Given the description of an element on the screen output the (x, y) to click on. 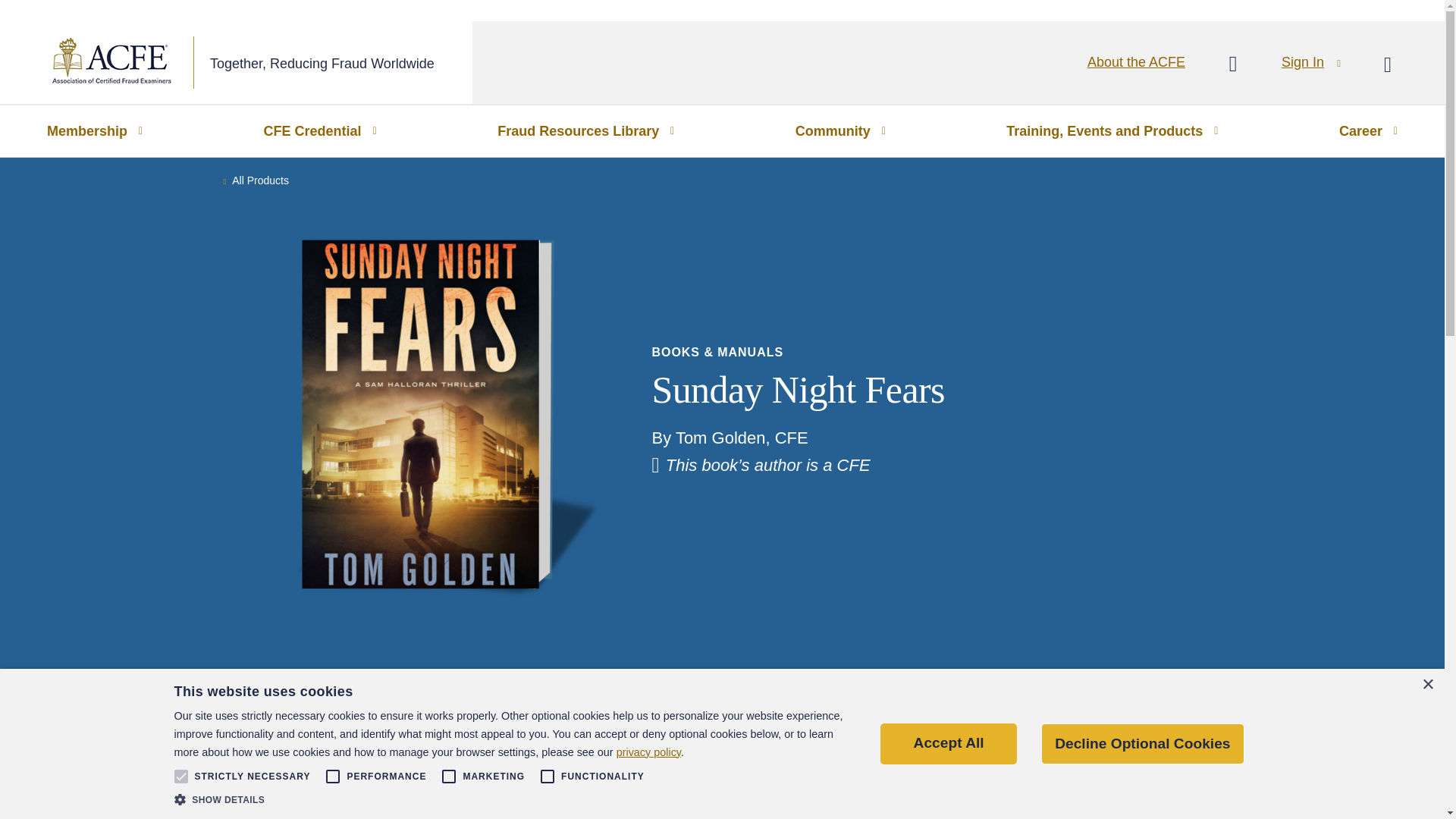
Fraud Resources Library (585, 131)
About the ACFE (1136, 61)
Open Search form (1387, 63)
CFE Credential (319, 131)
Cart (1232, 64)
Membership (94, 131)
Sign In (1310, 62)
